Given the description of an element on the screen output the (x, y) to click on. 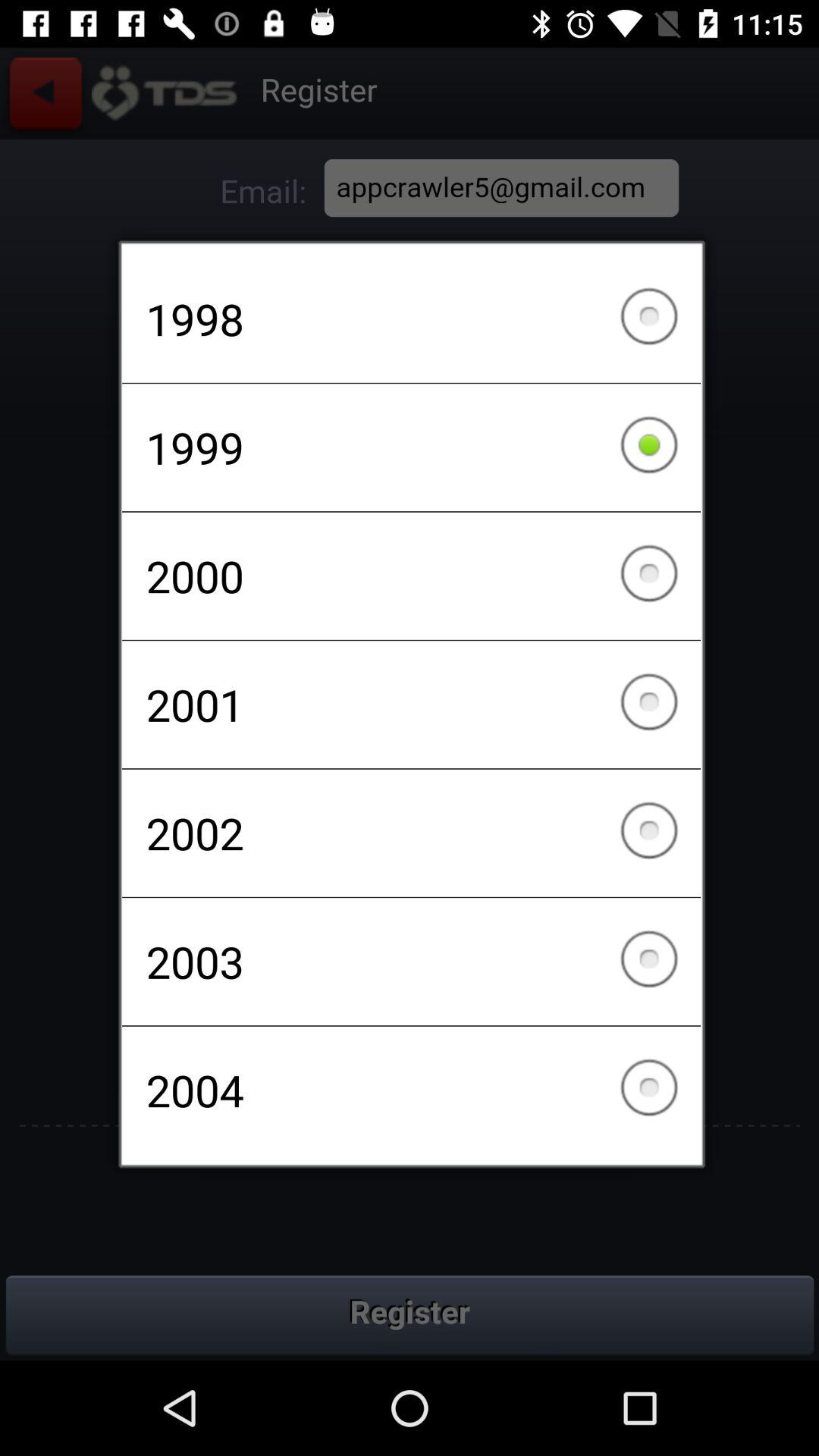
tap the checkbox below the 2000 checkbox (411, 704)
